Given the description of an element on the screen output the (x, y) to click on. 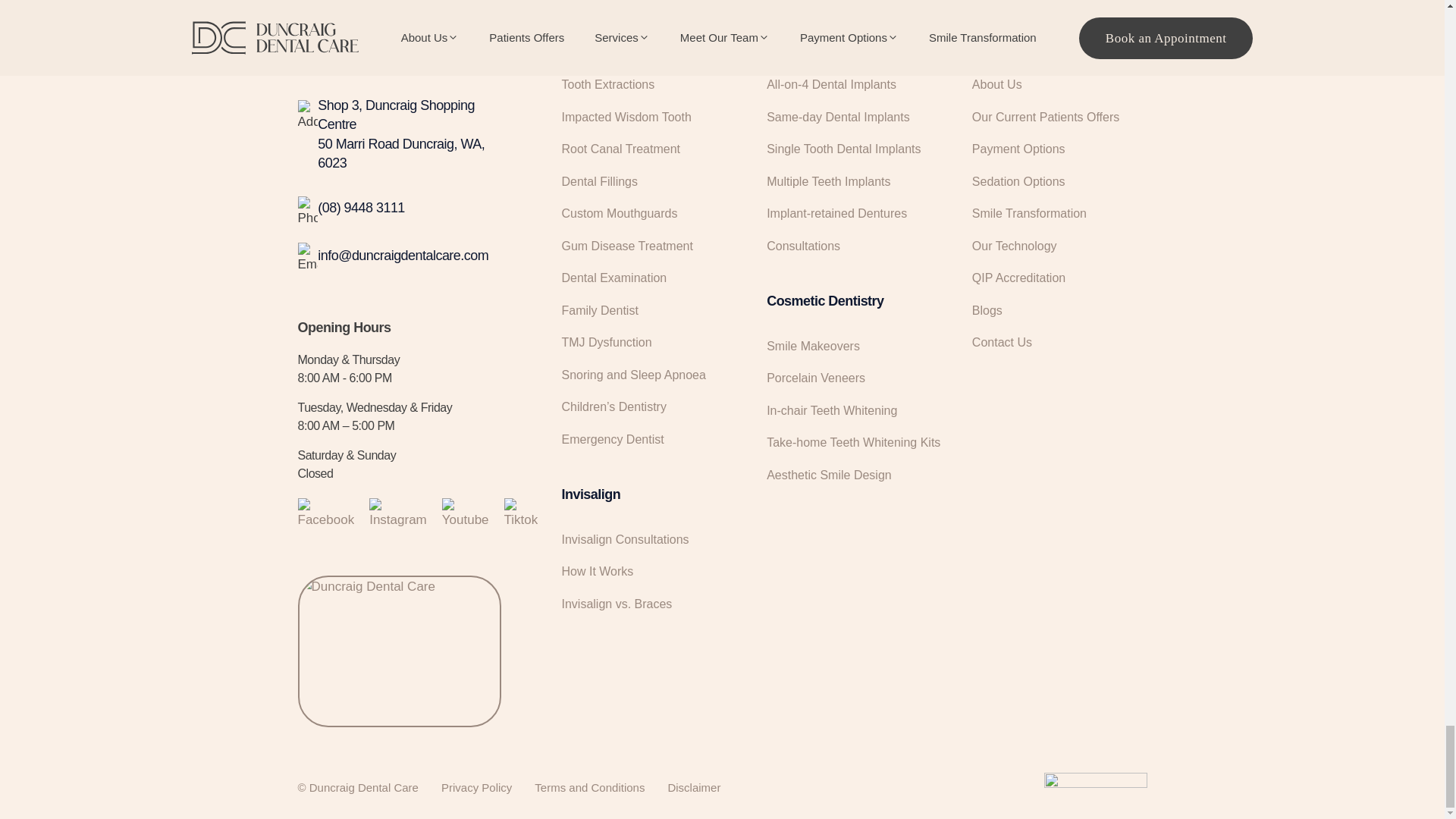
Duncraig Dental Care (380, 47)
Duncraig Dental Care (365, 587)
Instagram (397, 513)
Tiktok (520, 513)
Youtube (465, 513)
Facebook (325, 513)
